Given the description of an element on the screen output the (x, y) to click on. 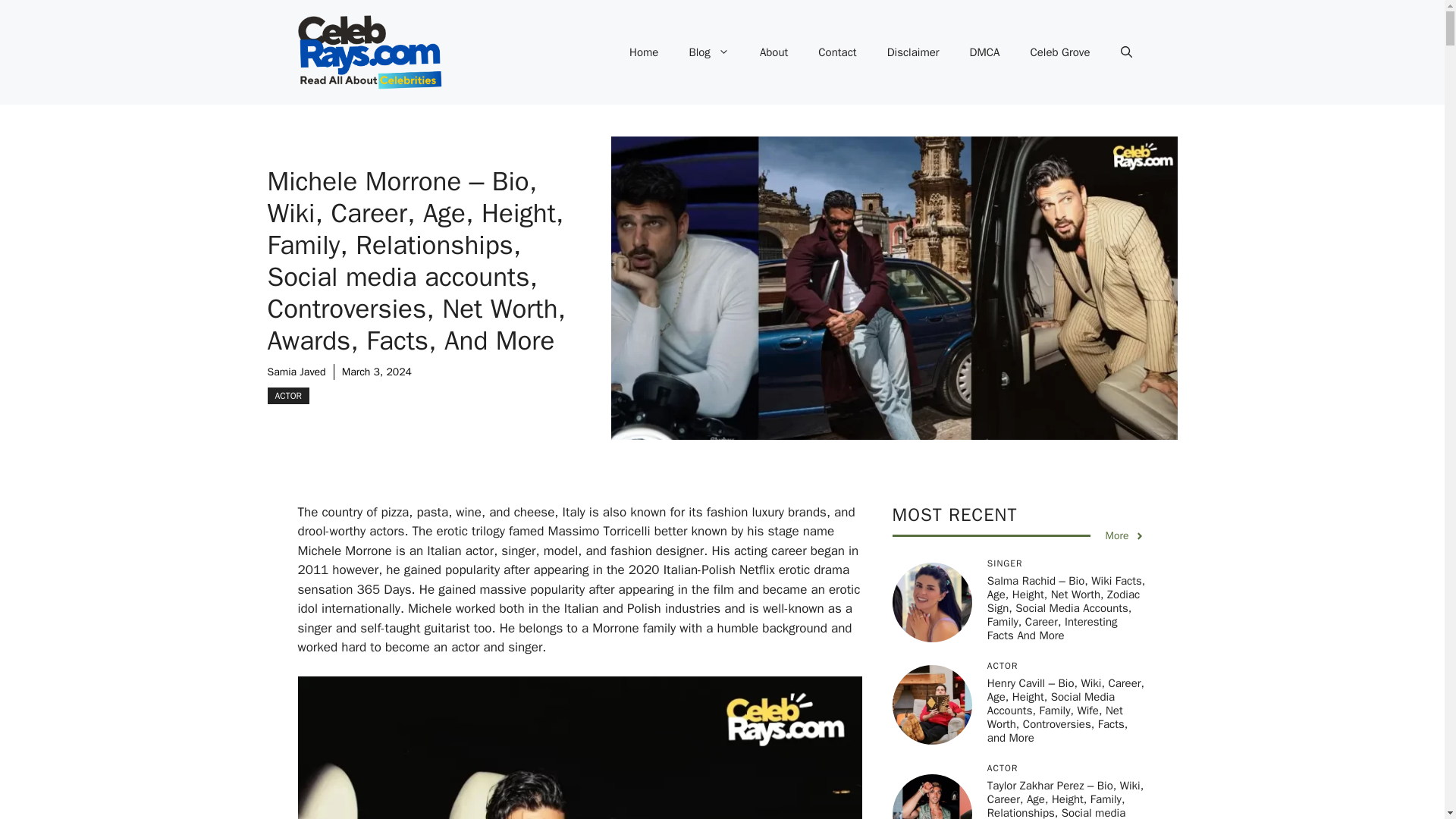
ACTOR (287, 395)
Contact (836, 52)
Blog (708, 52)
Samia Javed (295, 371)
DMCA (984, 52)
Celeb Grove (1059, 52)
Disclaimer (913, 52)
About (773, 52)
Home (643, 52)
